Given the description of an element on the screen output the (x, y) to click on. 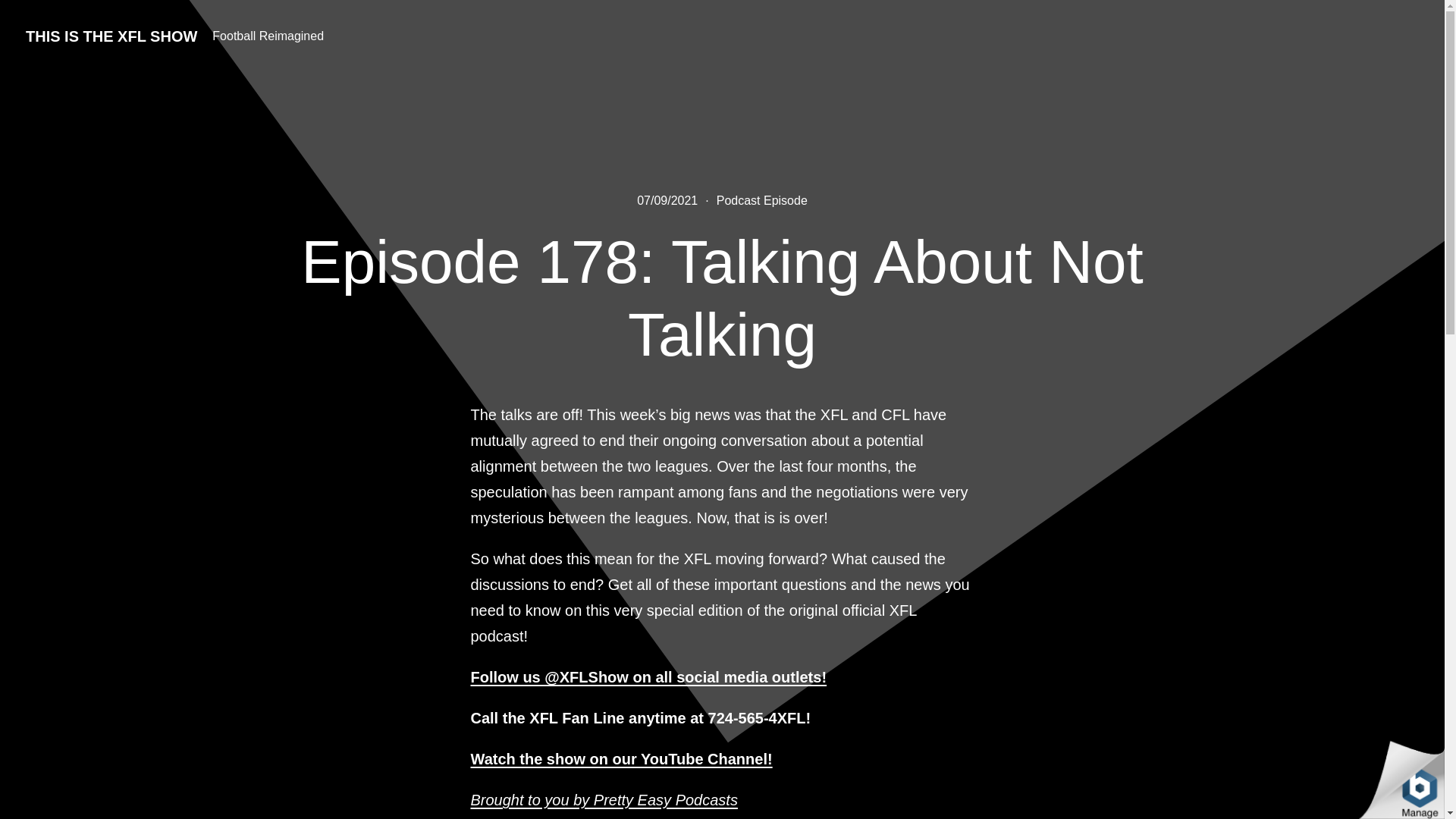
Brought to you by Pretty Easy Podcasts (603, 799)
Watch the show on our YouTube Channel! (620, 759)
THIS IS THE XFL SHOW (111, 36)
Podcast Episode (762, 200)
